Given the description of an element on the screen output the (x, y) to click on. 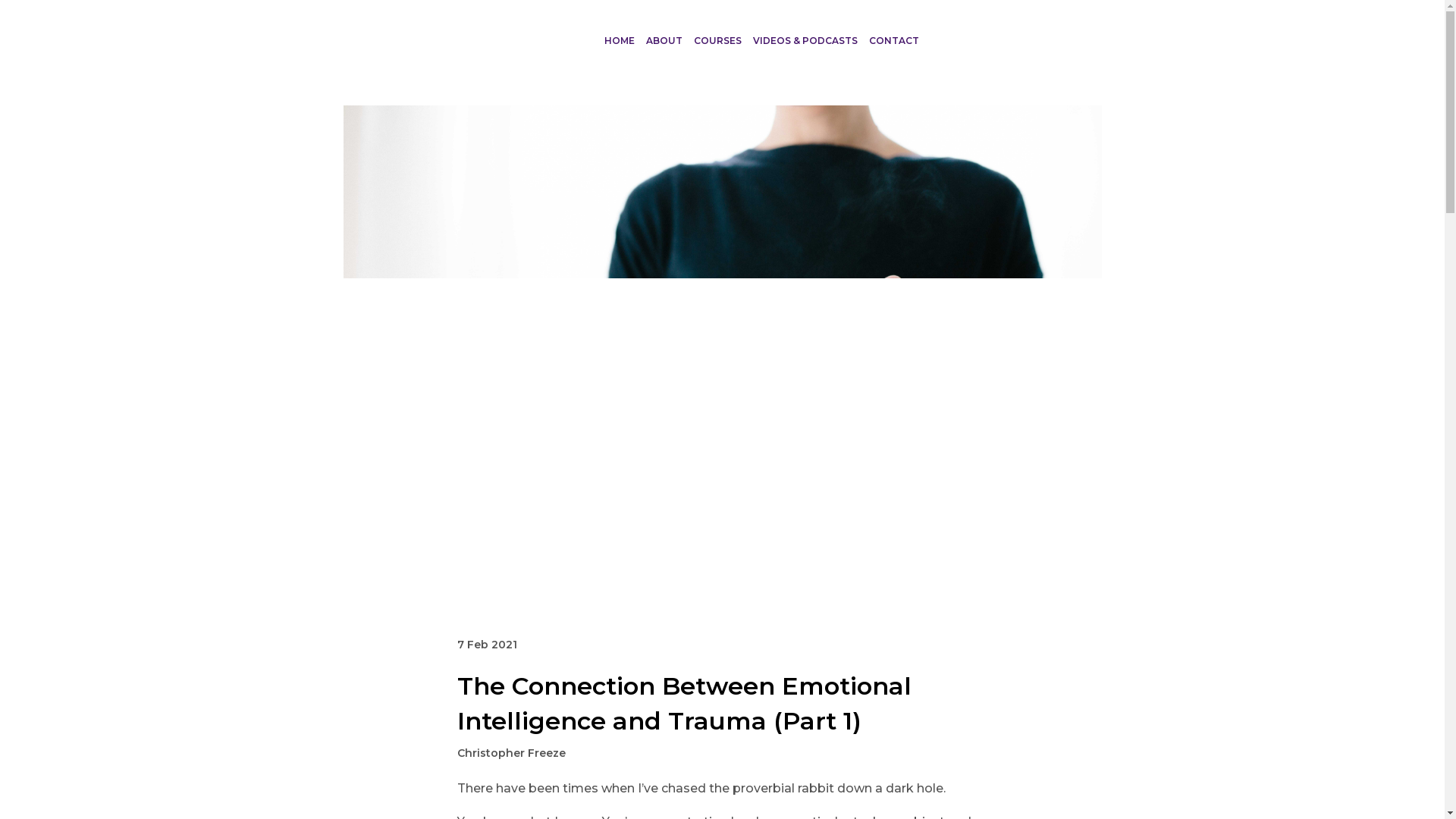
CONTACT (893, 40)
HOME (619, 40)
ABOUT (664, 40)
COURSES (717, 40)
